Given the description of an element on the screen output the (x, y) to click on. 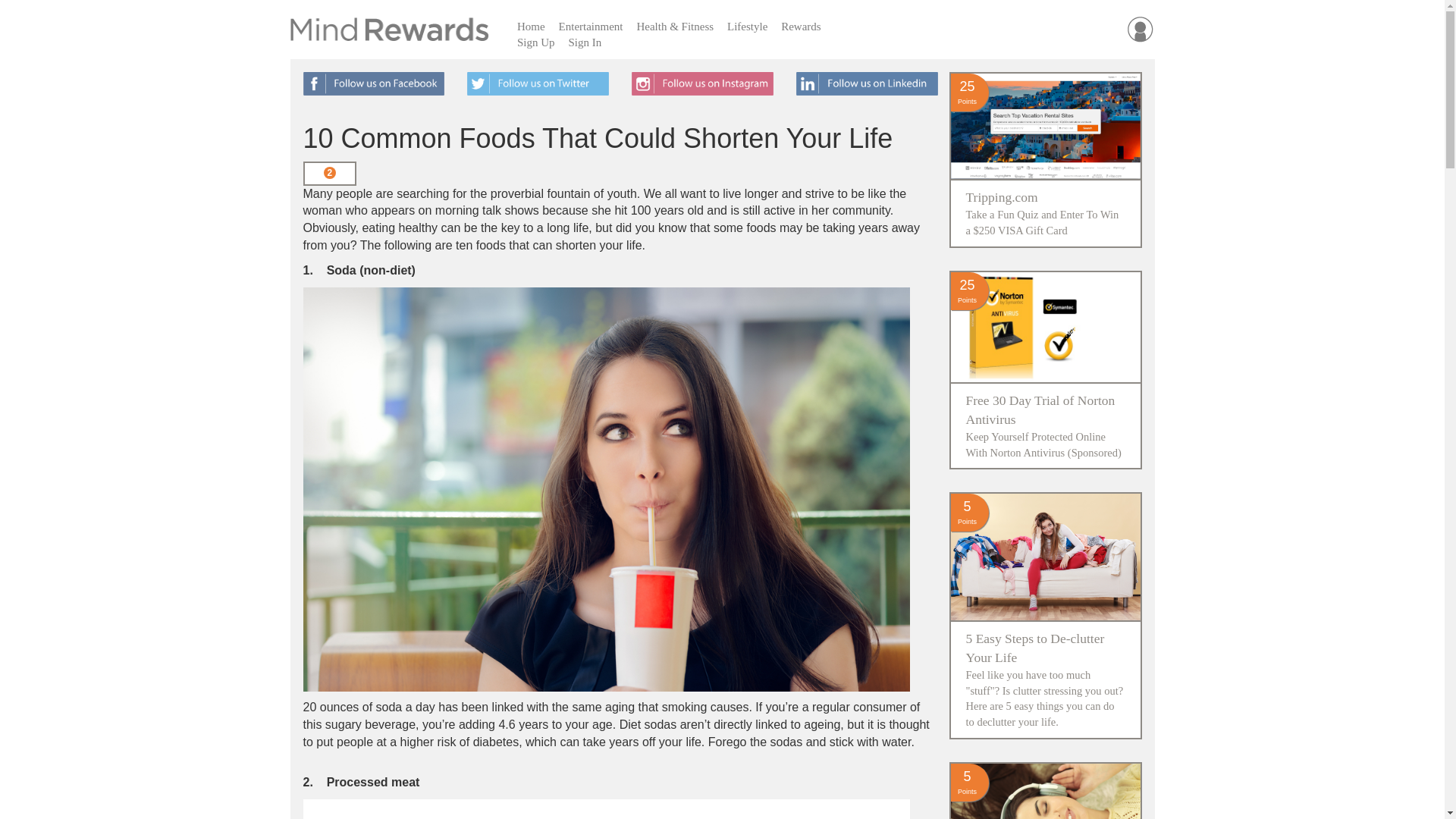
Lifestyle (747, 26)
Home (531, 26)
Sign In (584, 42)
Rewards (801, 26)
Sign Up (536, 42)
Entertainment (590, 26)
